Given the description of an element on the screen output the (x, y) to click on. 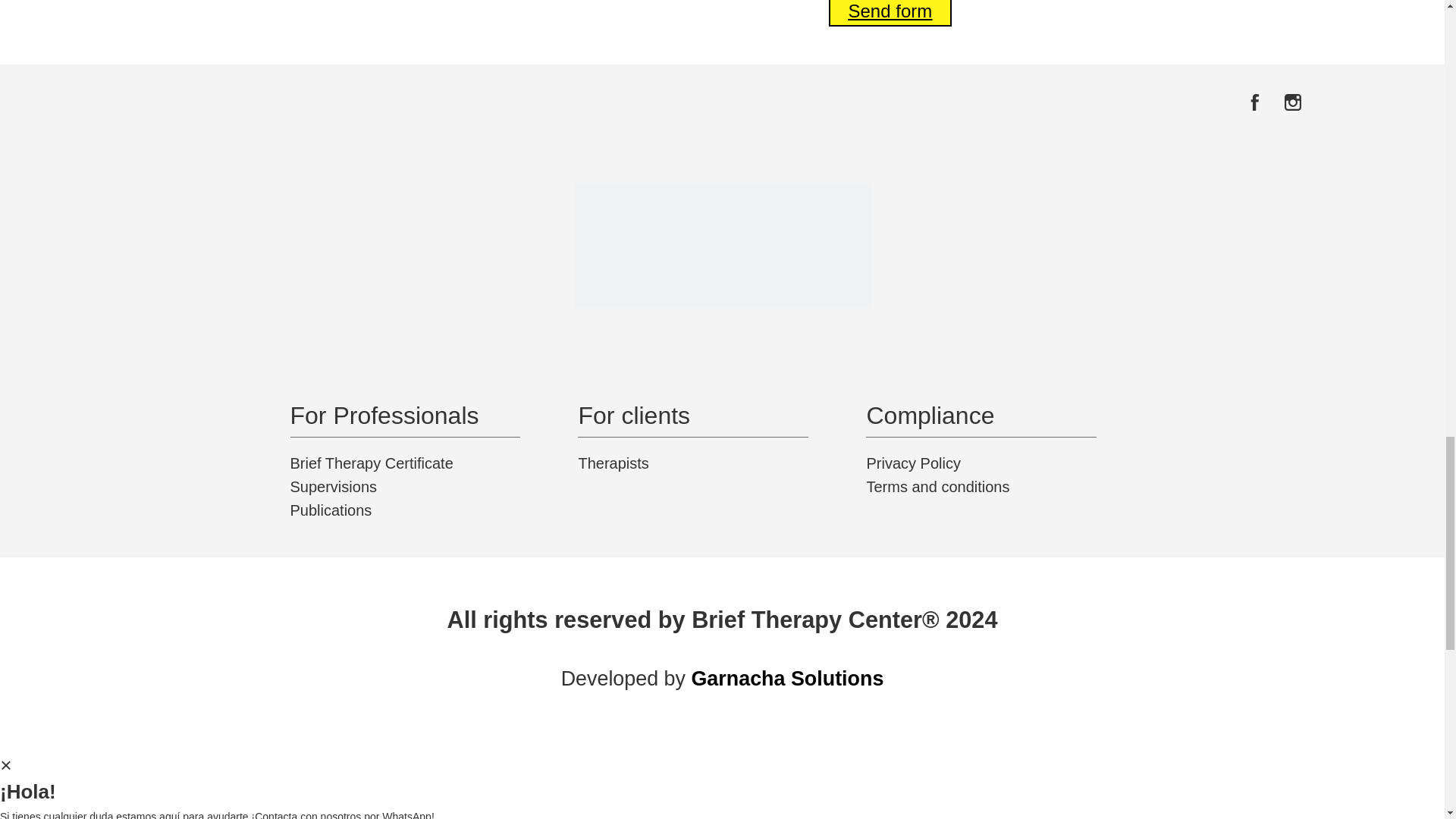
Supervisions (433, 486)
Privacy Policy (1010, 463)
Publications (433, 510)
Terms and conditions (1010, 486)
Send form (890, 13)
Brief Therapy Certificate (433, 463)
Therapists (722, 463)
